Given the description of an element on the screen output the (x, y) to click on. 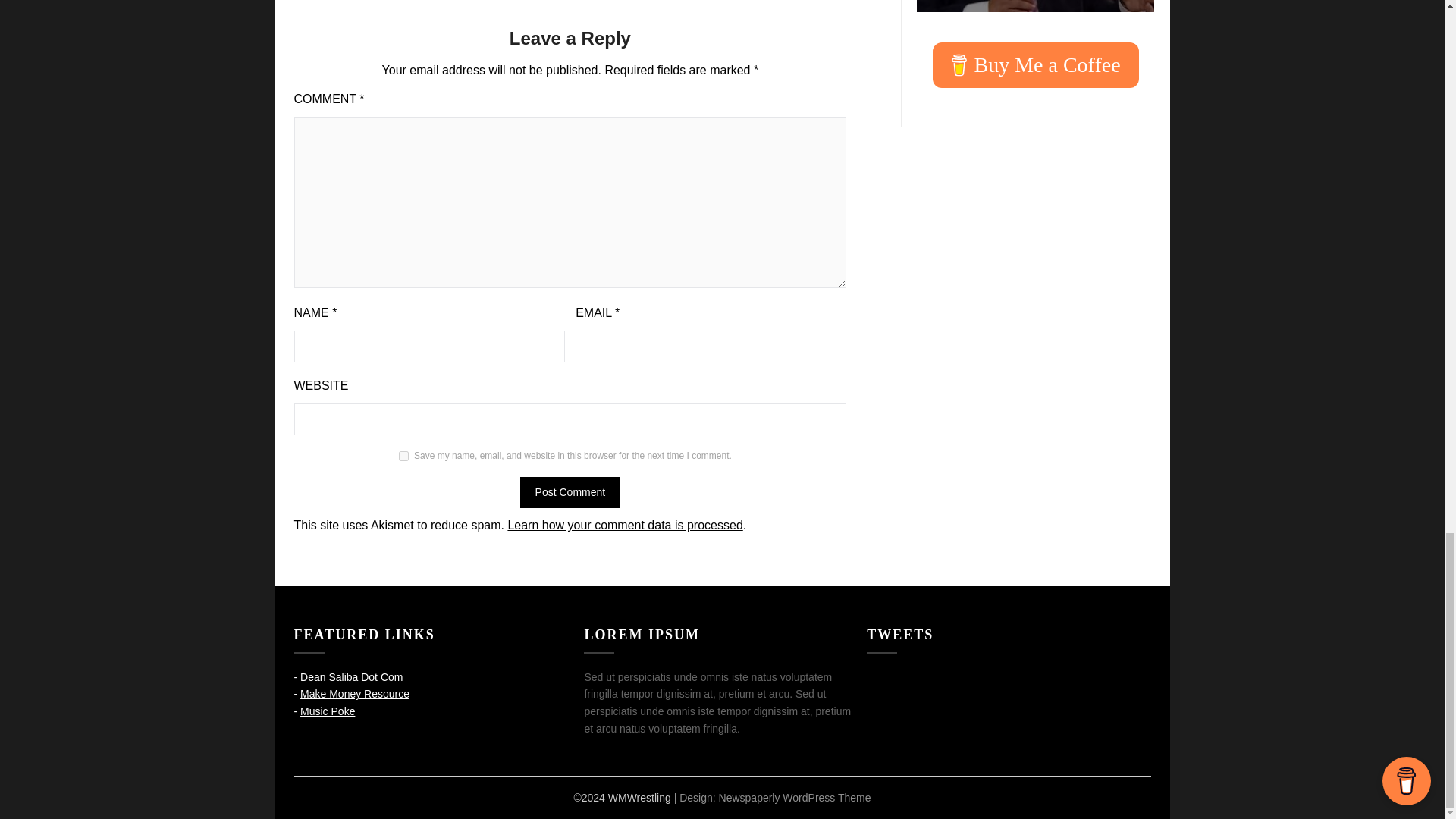
Post Comment (570, 491)
Post Comment (570, 491)
Learn how your comment data is processed (624, 524)
yes (403, 456)
